Given the description of an element on the screen output the (x, y) to click on. 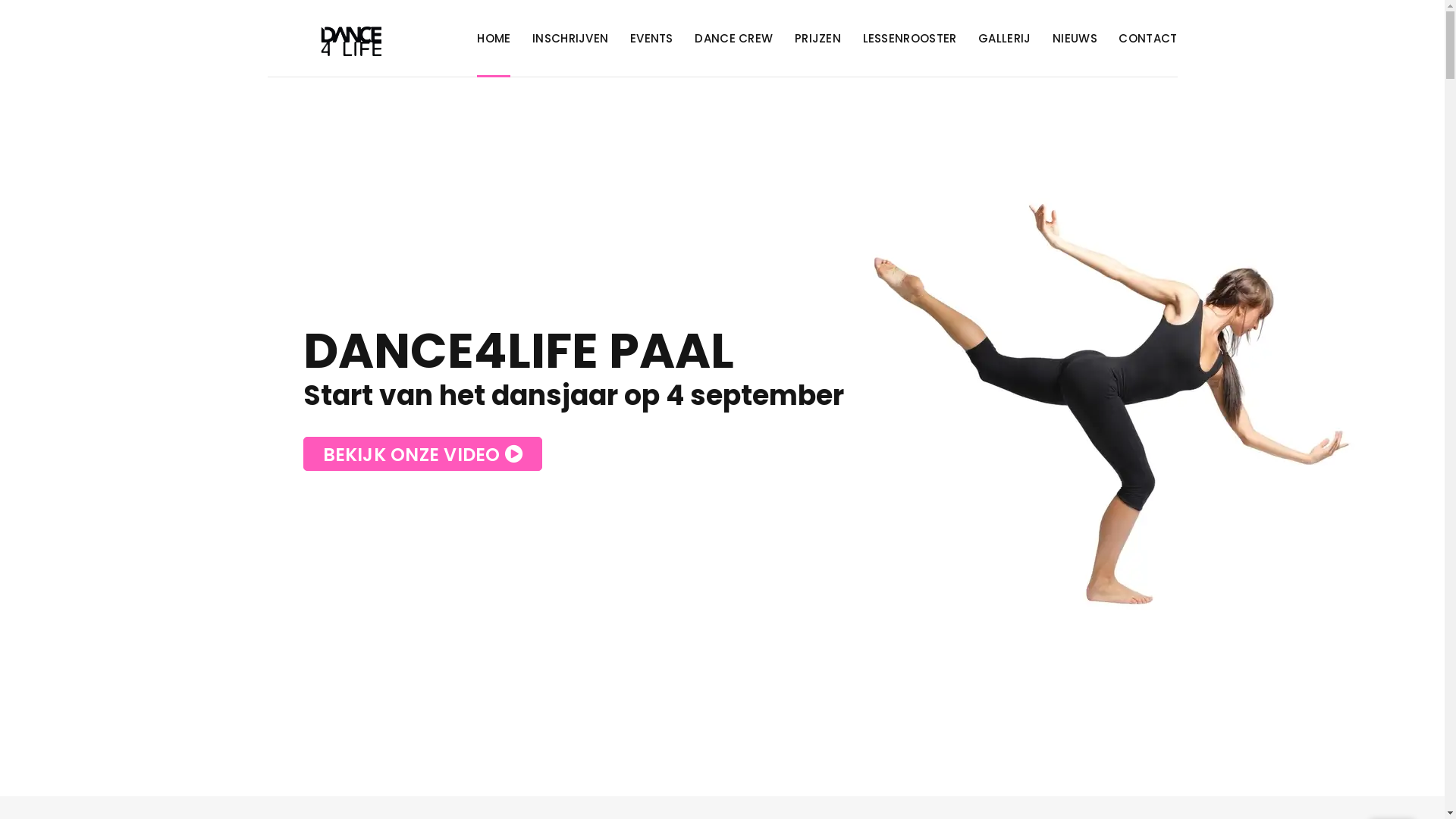
DANCE CREW Element type: text (733, 38)
GALLERIJ Element type: text (1004, 38)
CONTACT Element type: text (1147, 38)
NIEUWS Element type: text (1074, 38)
LESSENROOSTER Element type: text (909, 38)
PRIJZEN Element type: text (817, 38)
INSCHRIJVEN Element type: text (570, 38)
EVENTS Element type: text (651, 38)
HOME Element type: text (493, 38)
